Given the description of an element on the screen output the (x, y) to click on. 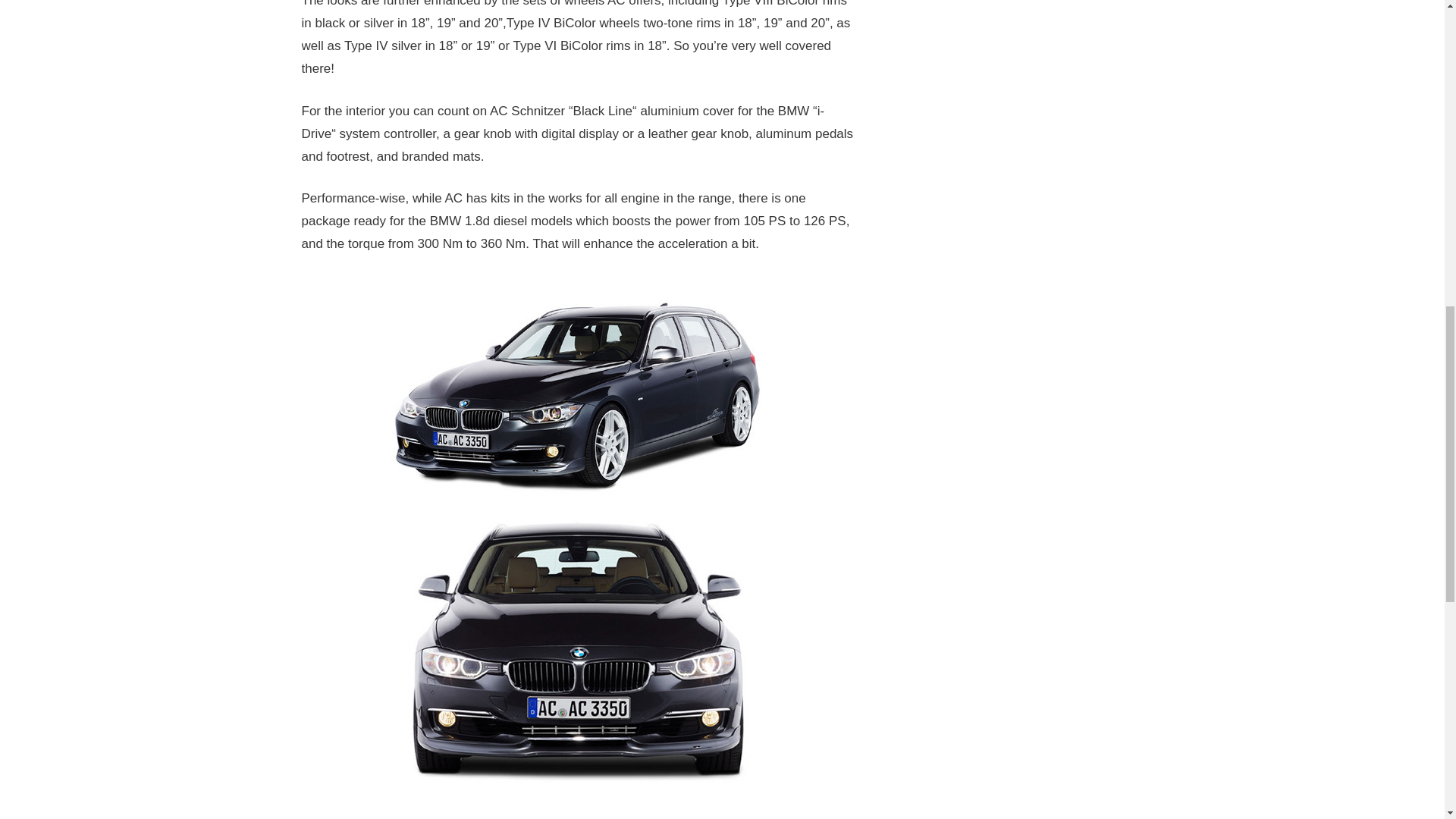
AC Schnitzer BMW 3 Series Touring 4 (577, 801)
AC Schnitzer BMW 3 Series Touring 3 (578, 647)
AC Schnitzer BMW 3 Series Touring 2 (577, 393)
